Given the description of an element on the screen output the (x, y) to click on. 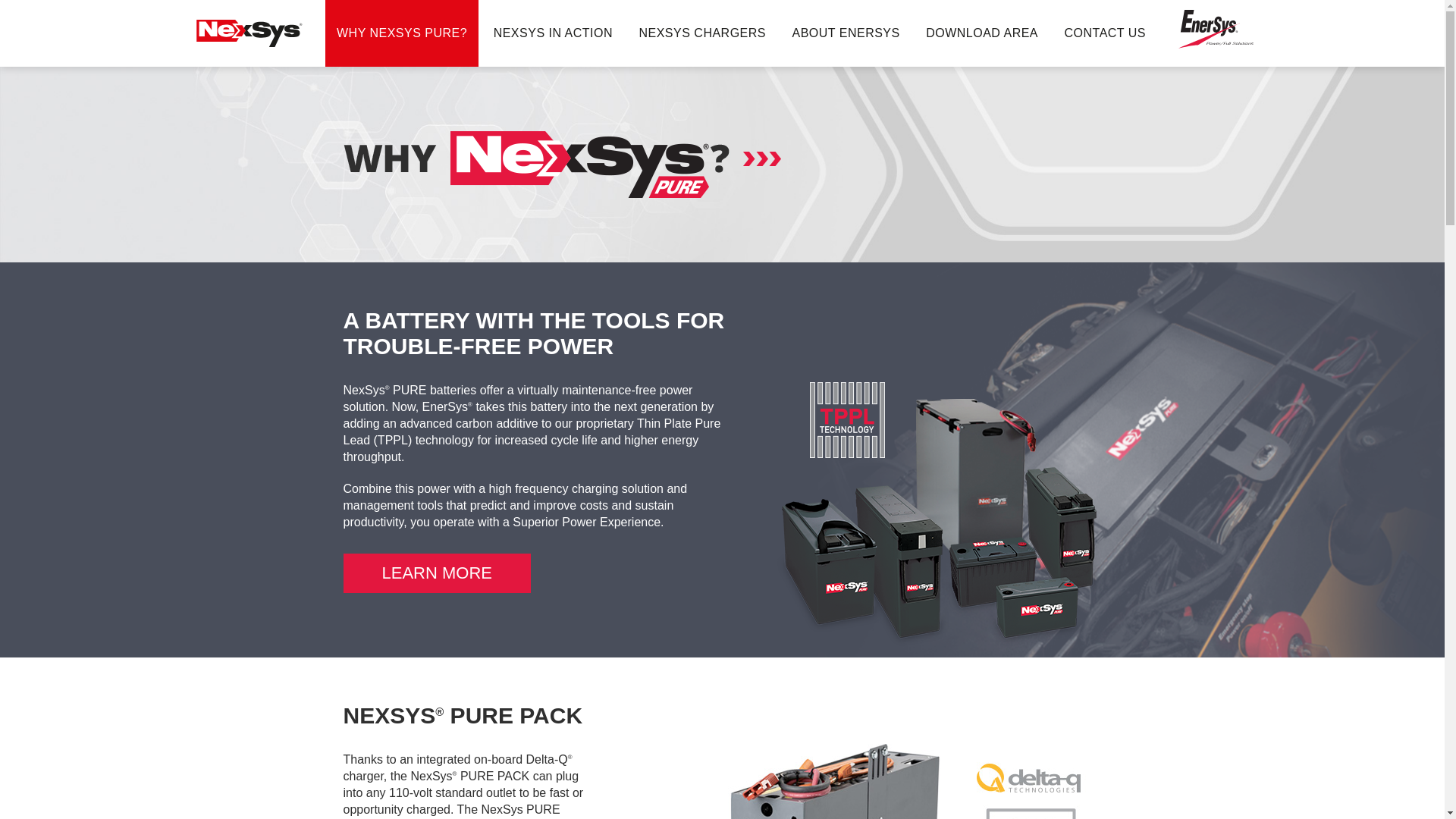
DOWNLOAD AREA (981, 33)
WHY NEXSYS PURE? (401, 33)
CONTACT US (1104, 33)
NEXSYS IN ACTION (552, 33)
NEXSYS CHARGERS (702, 33)
LEARN MORE (435, 572)
ABOUT ENERSYS (845, 33)
